Given the description of an element on the screen output the (x, y) to click on. 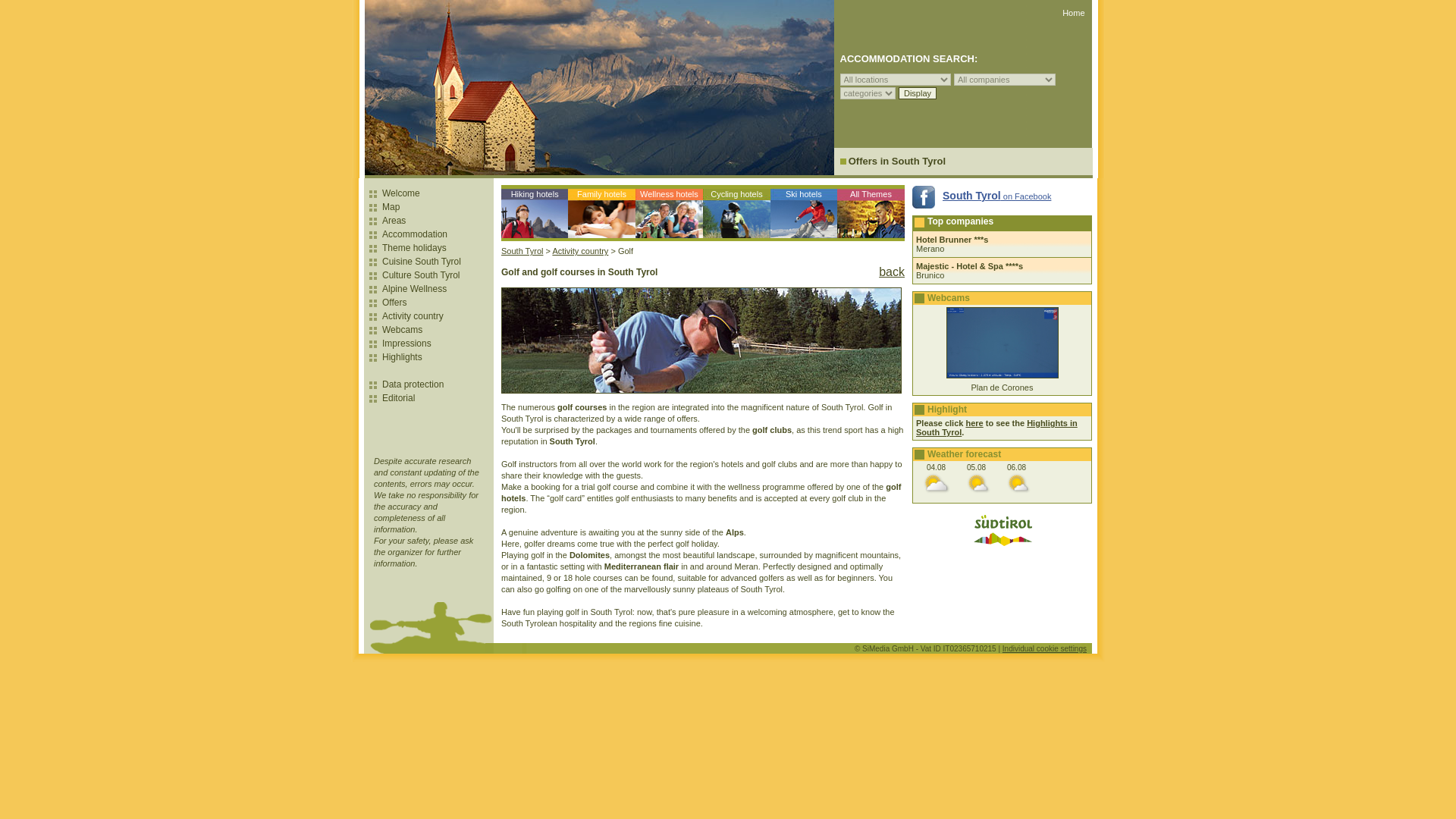
Alpine Wellness (413, 288)
Hiking hotels (533, 212)
Family hotels (600, 212)
Webcams (401, 329)
Areas (393, 220)
Family hotels (600, 212)
here (973, 422)
Cuisine South Tyrol (421, 261)
Welcome (400, 193)
Wellness hotels (668, 212)
Cycling hotels (736, 212)
Theme holidays (413, 247)
Highlights (401, 357)
South Tyrol on Facebook (981, 195)
Editorial (397, 398)
